Given the description of an element on the screen output the (x, y) to click on. 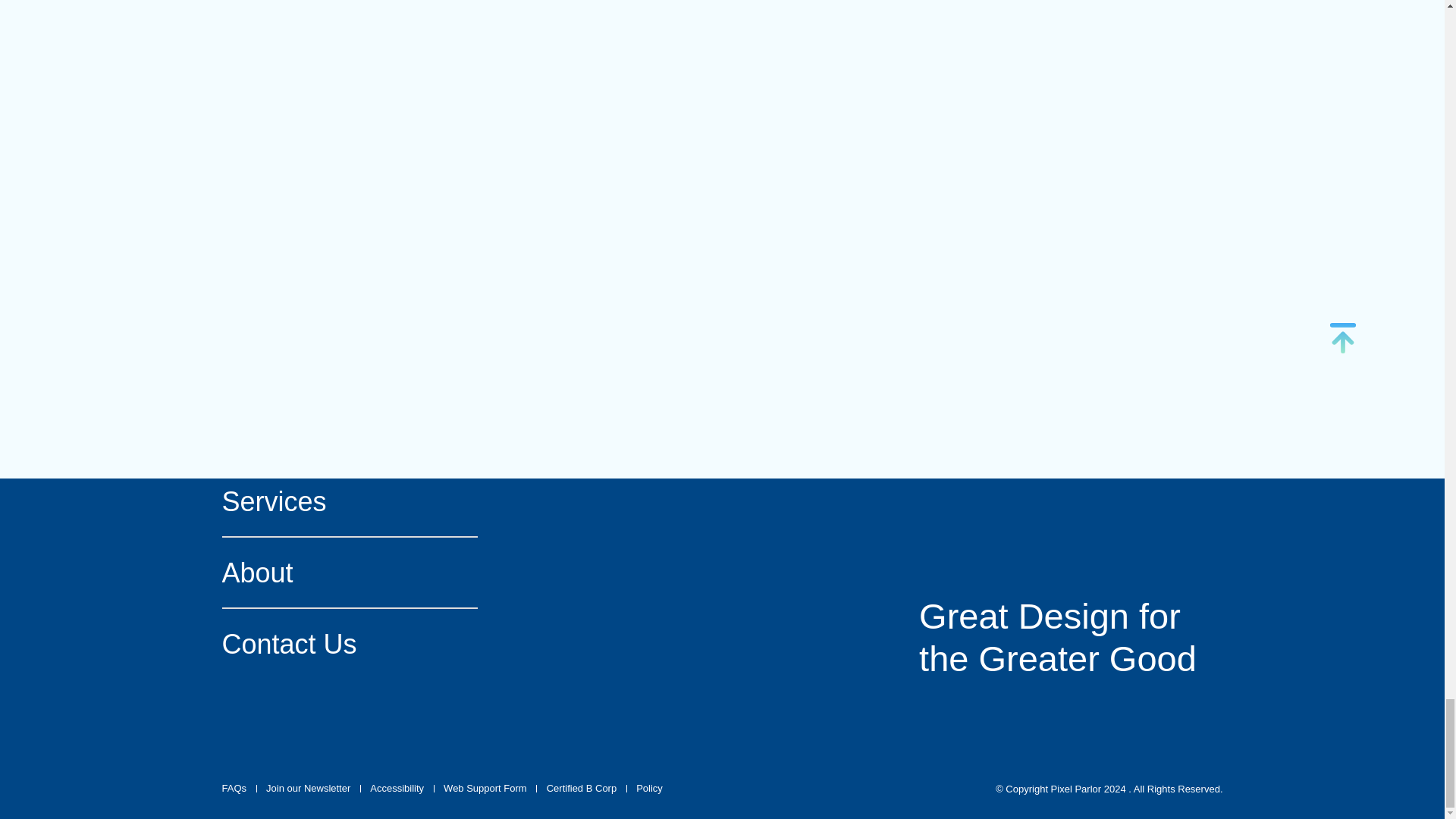
Services (349, 501)
About (349, 572)
Policy (649, 788)
Contact Us (349, 644)
FAQs (233, 788)
Join our Newsletter (308, 788)
Accessibility (396, 788)
Web Support Form (485, 788)
Certified B Corp (581, 788)
